Given the description of an element on the screen output the (x, y) to click on. 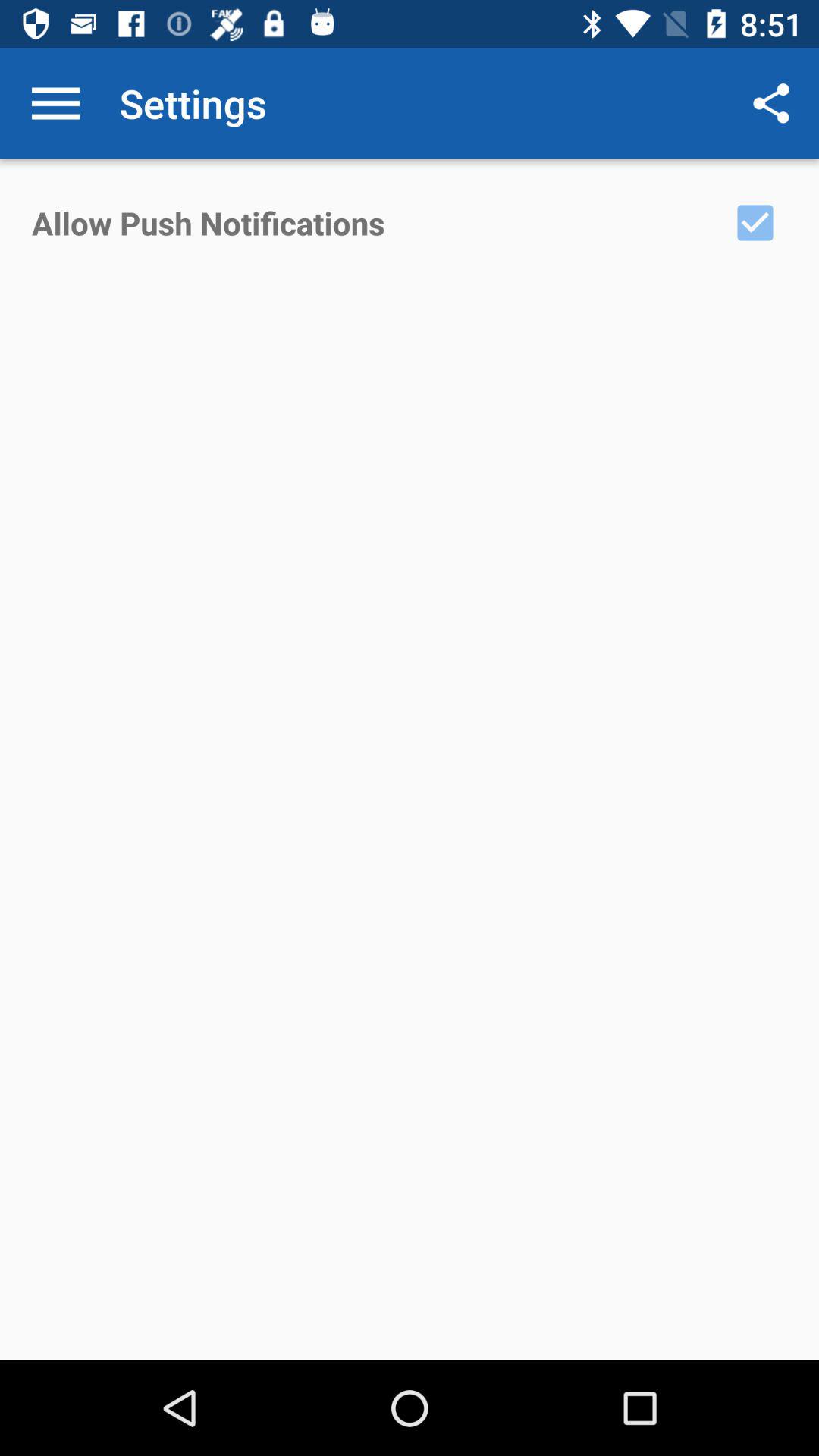
launch the icon to the right of settings item (771, 103)
